Given the description of an element on the screen output the (x, y) to click on. 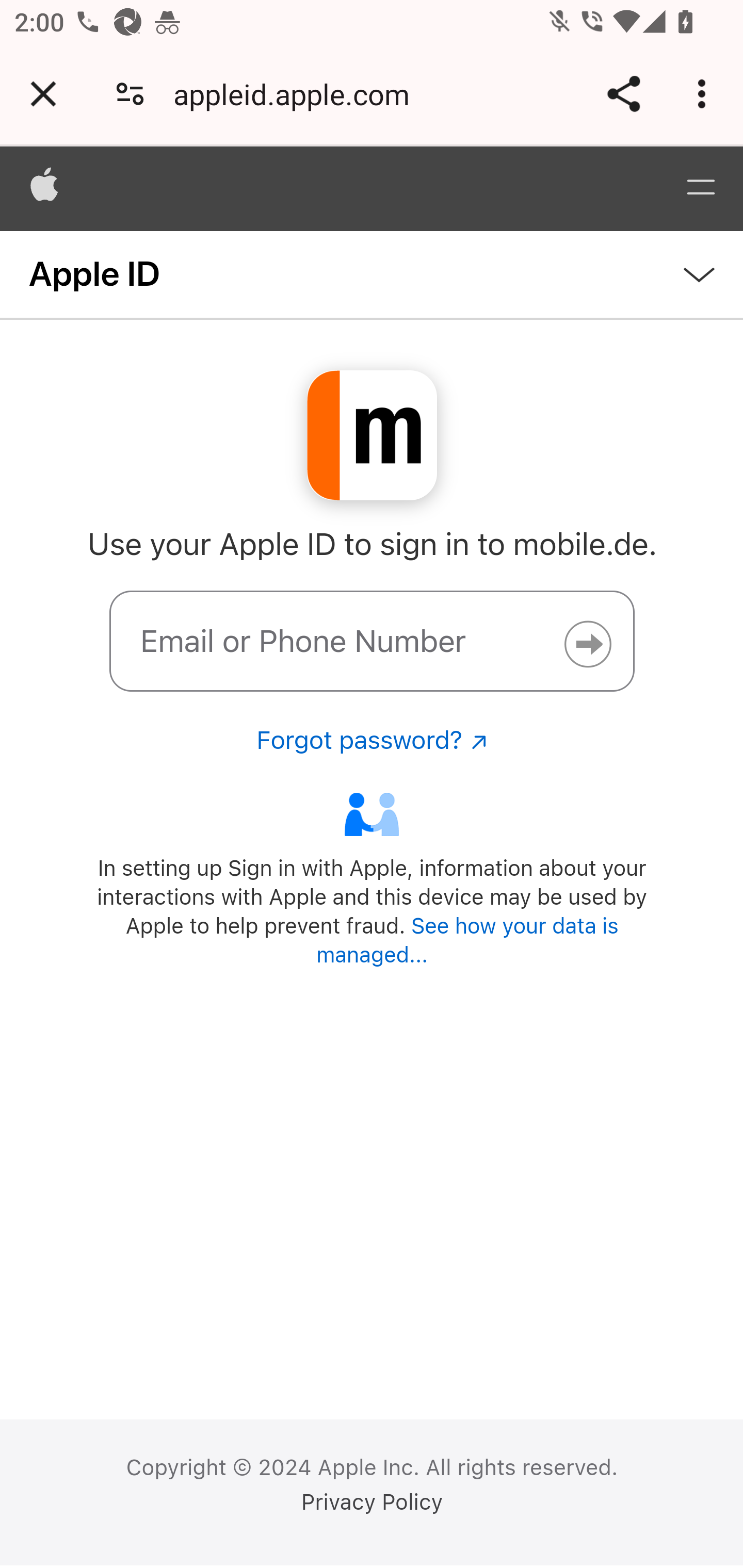
Close tab (43, 93)
Share (623, 93)
Customize and control Google Chrome (705, 93)
Connection is secure (129, 93)
appleid.apple.com (298, 93)
Apple (45, 188)
Menu (700, 188)
Continue (586, 644)
Privacy Policy (371, 1502)
